Given the description of an element on the screen output the (x, y) to click on. 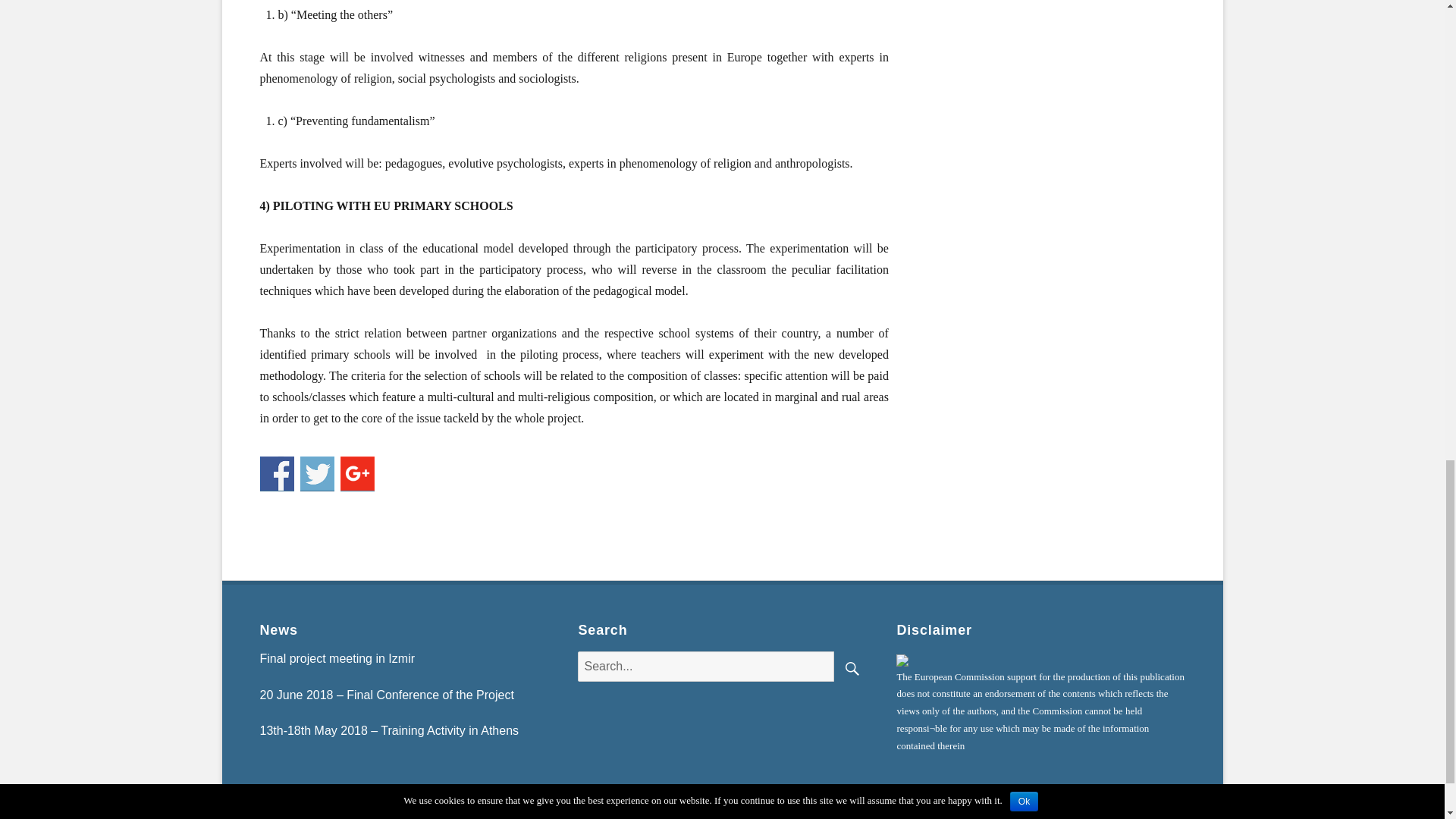
Share on Facebook (276, 473)
Final project meeting in Izmir (336, 658)
Search for: (706, 666)
Share on Twitter (316, 473)
